Given the description of an element on the screen output the (x, y) to click on. 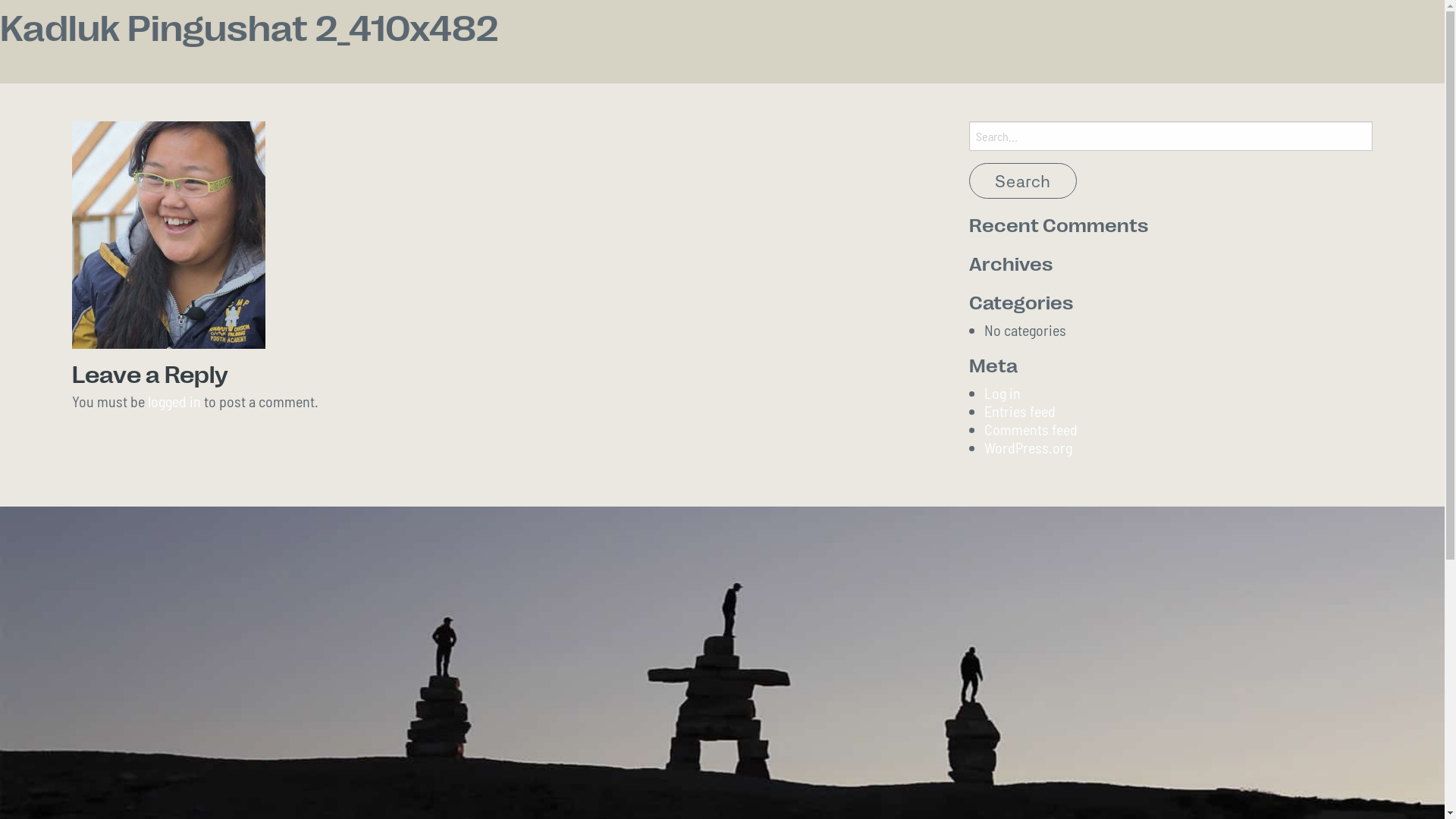
Entries feed Element type: text (1019, 410)
Contact Element type: text (1139, 41)
Search Element type: text (1022, 180)
Services Element type: text (648, 41)
Publications & Medias Element type: text (990, 41)
Log in Element type: text (1002, 392)
About us Element type: text (544, 41)
Comments feed Element type: text (1030, 429)
Search for: Element type: hover (1170, 135)
WordPress.org Element type: text (1028, 447)
Videos Element type: text (847, 41)
Projects Element type: text (750, 41)
logged in Element type: text (173, 401)
